Given the description of an element on the screen output the (x, y) to click on. 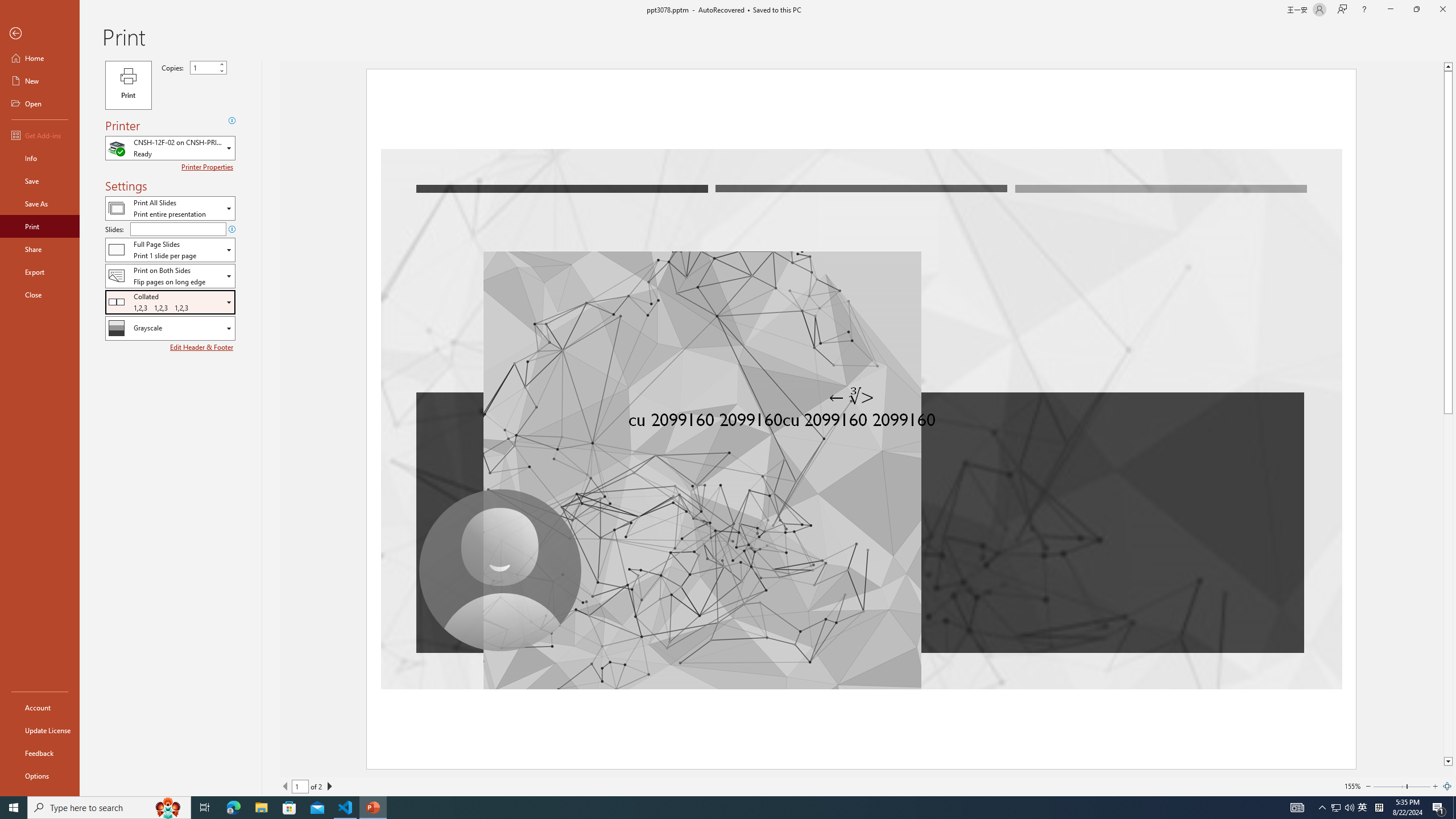
Print (40, 225)
Print (127, 84)
Printer Properties (208, 166)
Back (40, 33)
Current Page (300, 786)
Page right (1418, 786)
Collation (169, 301)
